Given the description of an element on the screen output the (x, y) to click on. 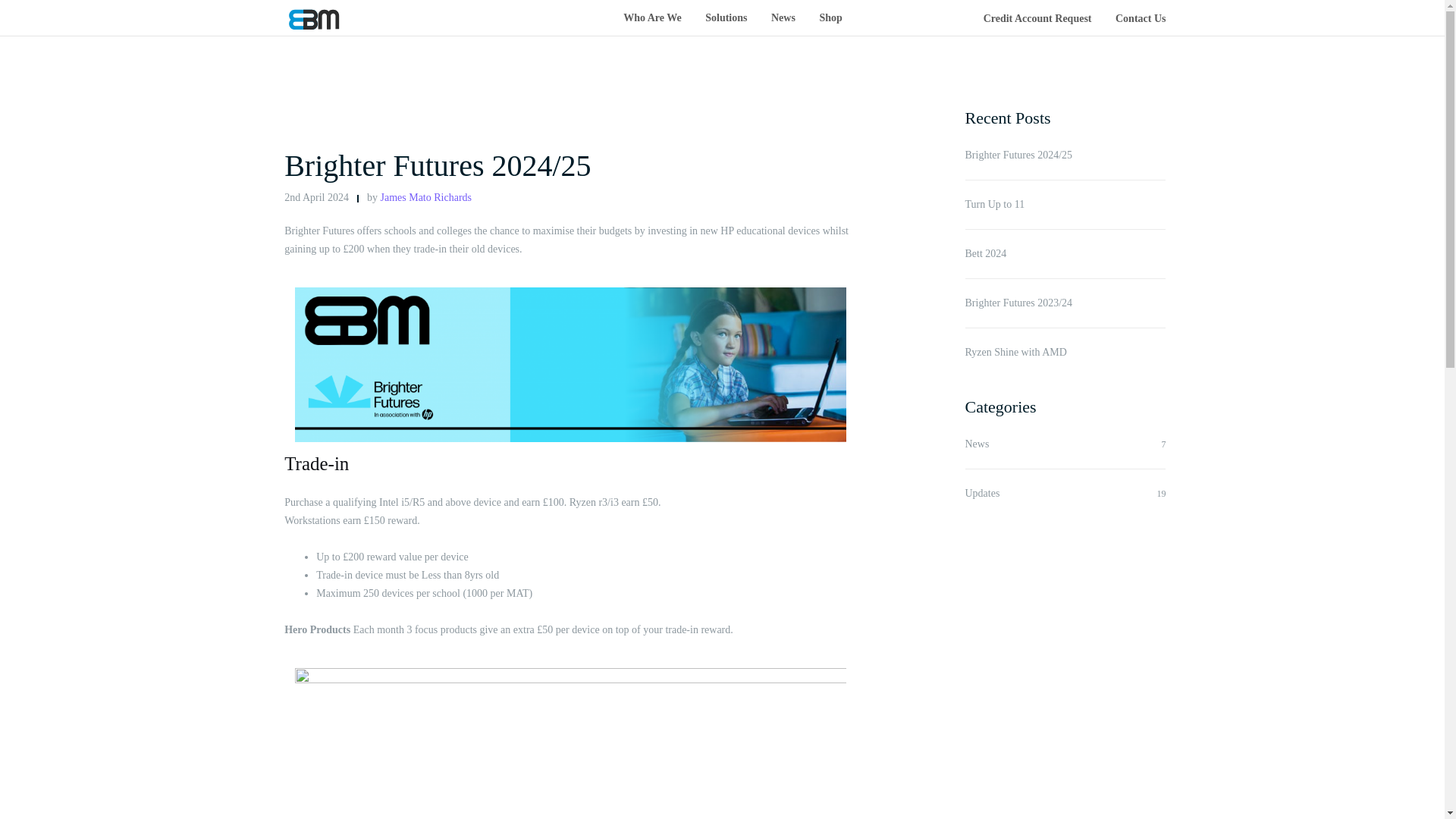
Updates (980, 492)
Credit Account Request (1038, 18)
Bett 2024 (1064, 253)
Who Are We (652, 18)
Turn Up to 11 (1064, 204)
Contact Us (1140, 18)
Who Are We (652, 18)
James Mato Richards (425, 197)
News (975, 443)
Ryzen Shine with AMD (1064, 352)
